Given the description of an element on the screen output the (x, y) to click on. 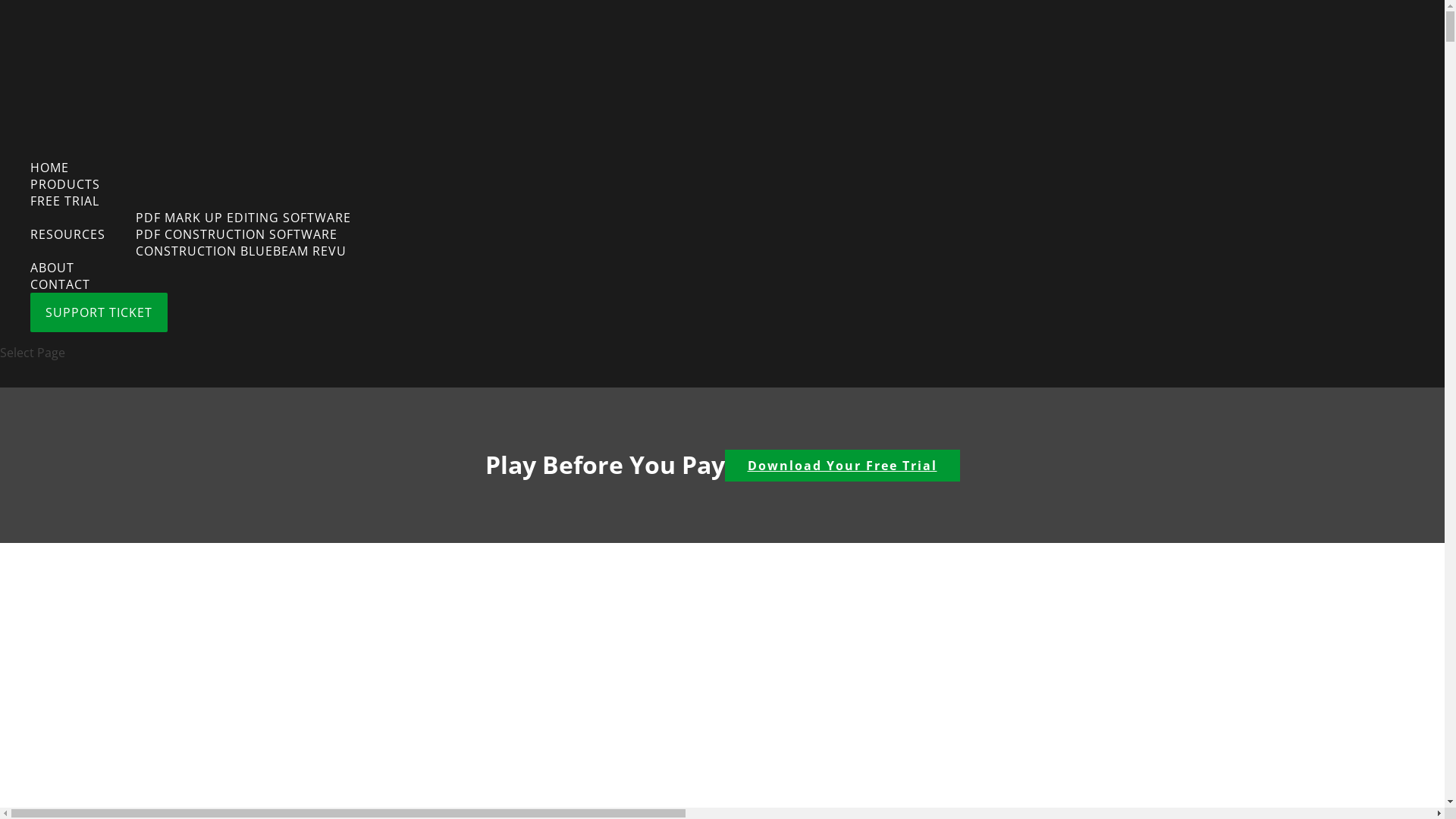
SUPPORT TICKET Element type: text (98, 312)
ABOUT Element type: text (52, 267)
Download Your Free Trial Element type: text (842, 465)
HOME Element type: text (49, 167)
PDF CONSTRUCTION SOFTWARE Element type: text (236, 233)
FREE TRIAL Element type: text (64, 200)
RESOURCES Element type: text (67, 233)
CONTACT Element type: text (60, 284)
PDF MARK UP EDITING SOFTWARE Element type: text (243, 217)
CONSTRUCTION BLUEBEAM REVU Element type: text (240, 250)
PRODUCTS Element type: text (65, 183)
